Given the description of an element on the screen output the (x, y) to click on. 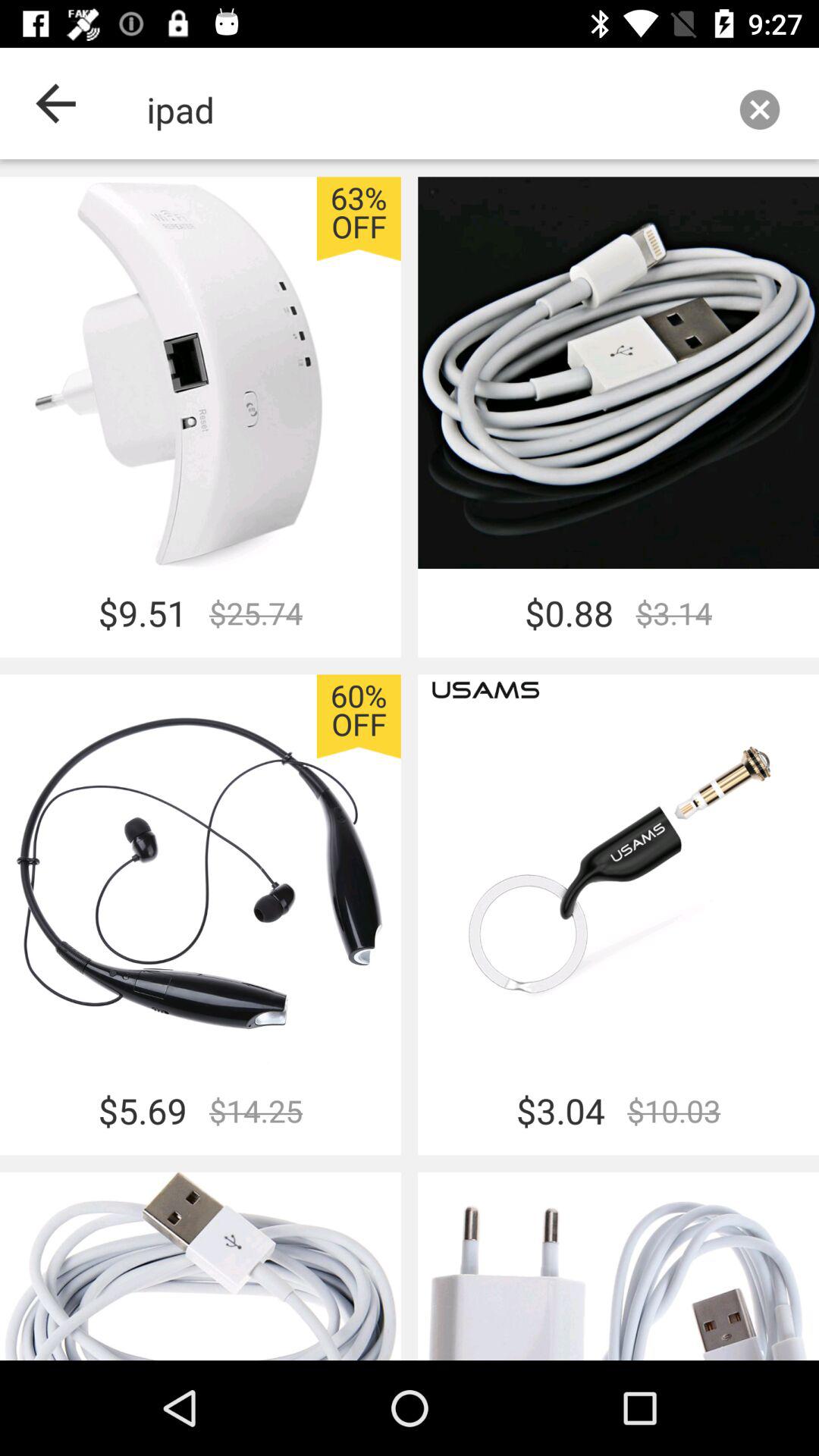
click on the fourth picture (618, 870)
